Given the description of an element on the screen output the (x, y) to click on. 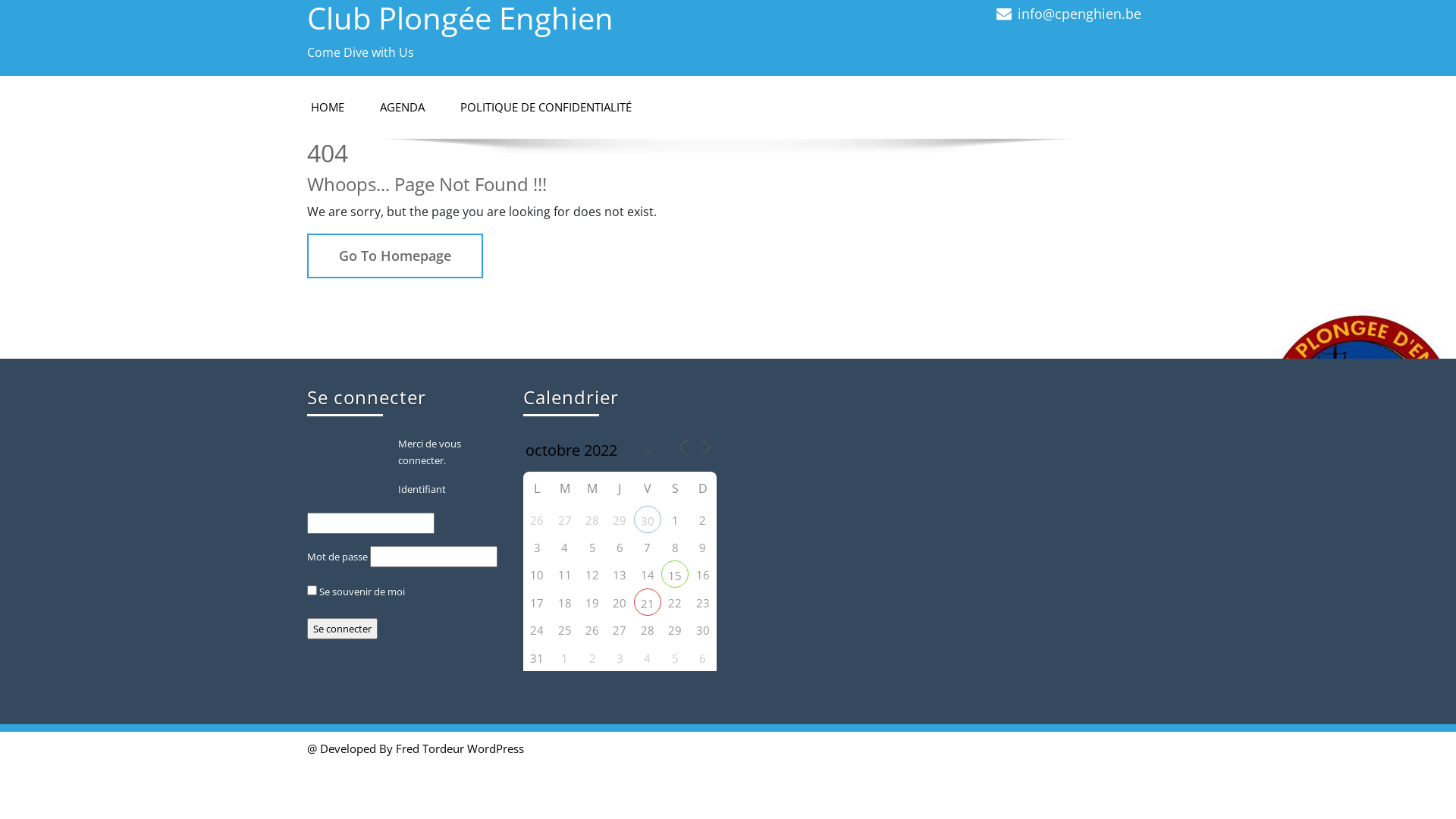
info@cpenghien.be Element type: text (1079, 13)
Se connecter Element type: text (342, 628)
Go To Homepage Element type: text (395, 254)
15 Element type: text (674, 573)
21 Element type: text (647, 601)
AGENDA Element type: text (401, 107)
30 Element type: text (647, 519)
WordPress Element type: text (495, 748)
Go To Homepage Element type: text (395, 256)
HOME Element type: text (327, 107)
